Given the description of an element on the screen output the (x, y) to click on. 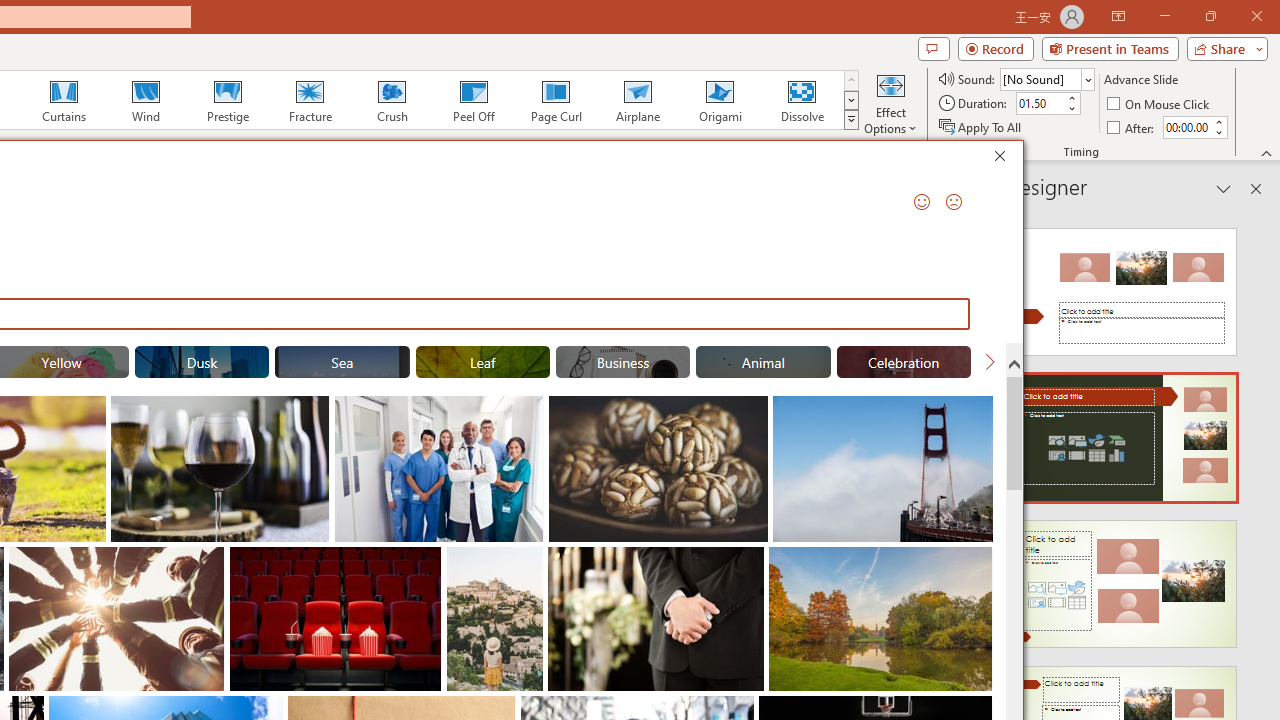
Row up (850, 79)
Wind (145, 100)
Peel Off (473, 100)
"Dusk" Stock Images. (201, 362)
"Business" Stock Images. (622, 362)
Crush (391, 100)
On Mouse Click (1159, 103)
More (1218, 121)
After (1186, 127)
Apply To All (981, 126)
Duration (1039, 103)
